Given the description of an element on the screen output the (x, y) to click on. 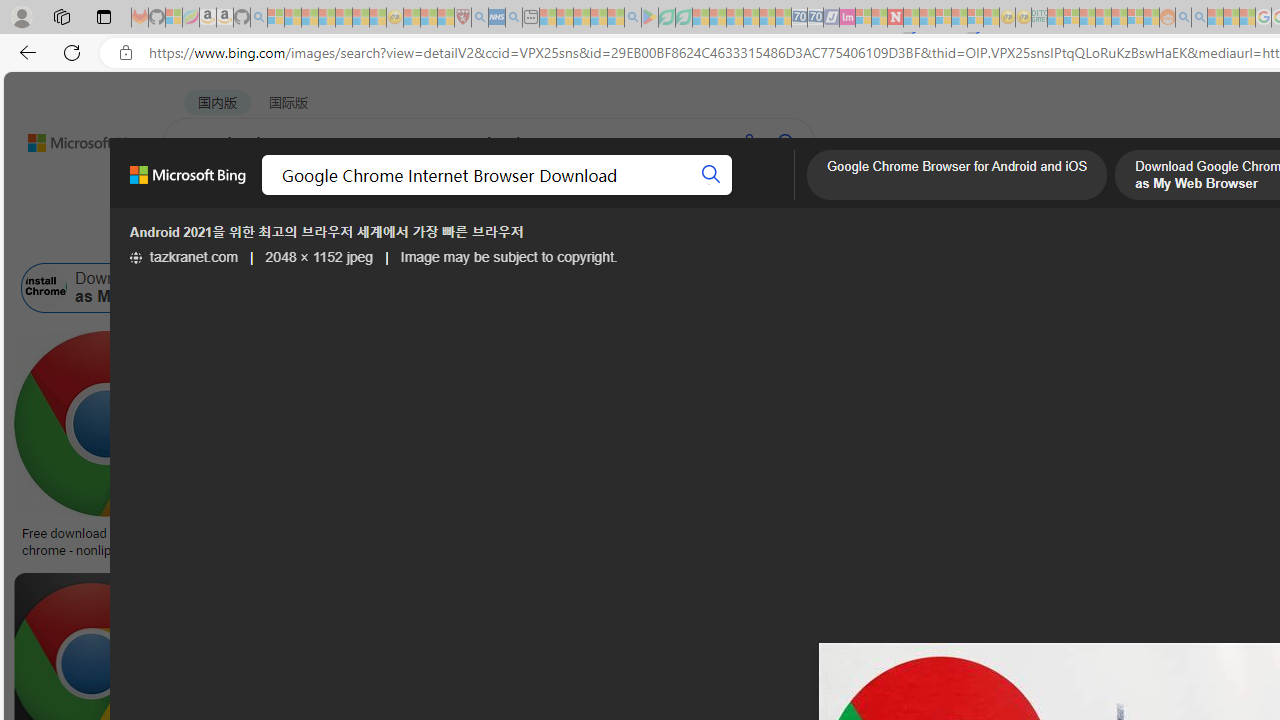
Layout (443, 237)
Google Chrome Web Browser Free Download (665, 287)
